Given the description of an element on the screen output the (x, y) to click on. 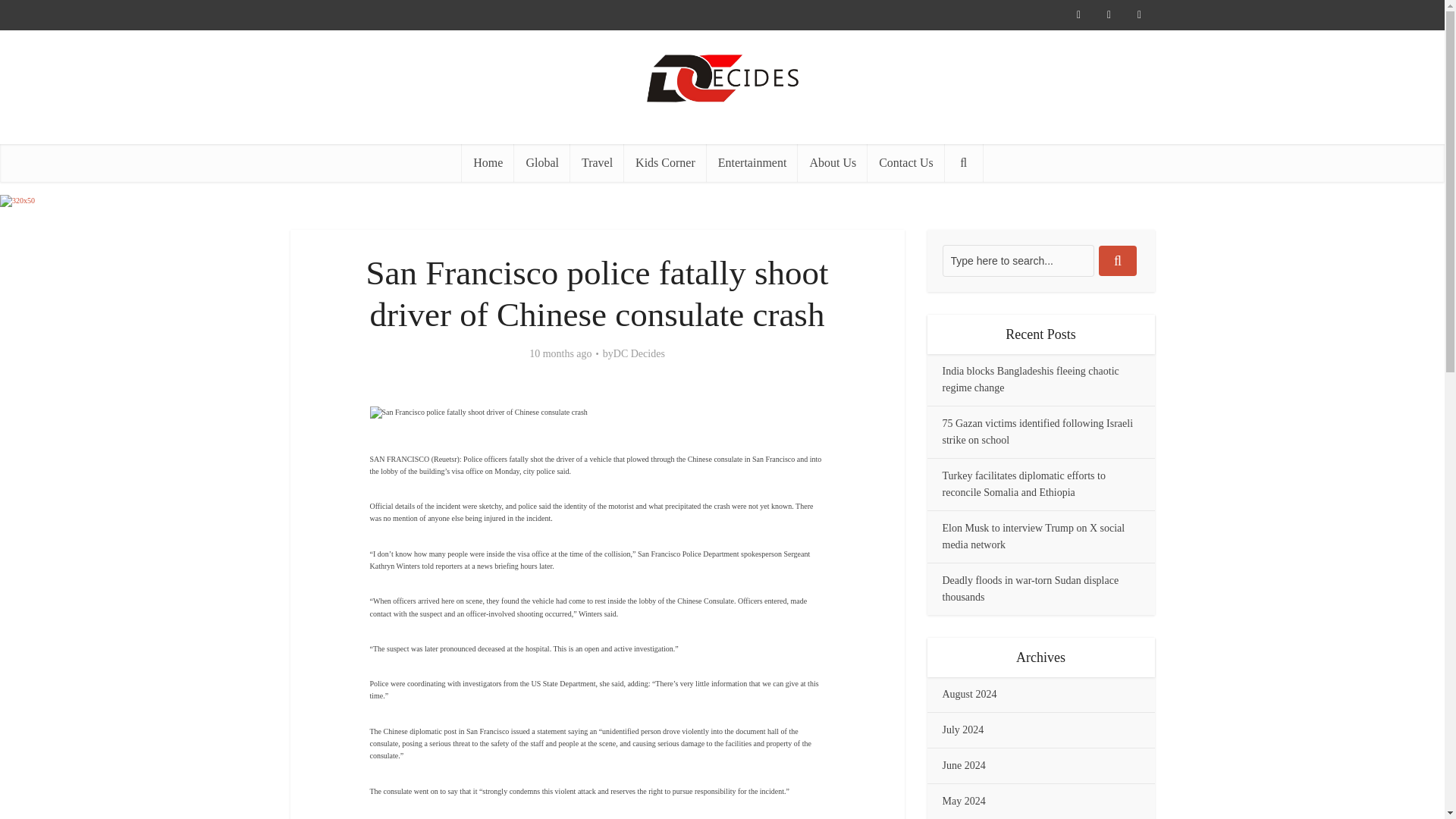
Global (541, 162)
Contact Us (905, 162)
Type here to search... (1017, 260)
320x50 (17, 200)
Home (487, 162)
Travel (597, 162)
Entertainment (751, 162)
Kids Corner (665, 162)
